Given the description of an element on the screen output the (x, y) to click on. 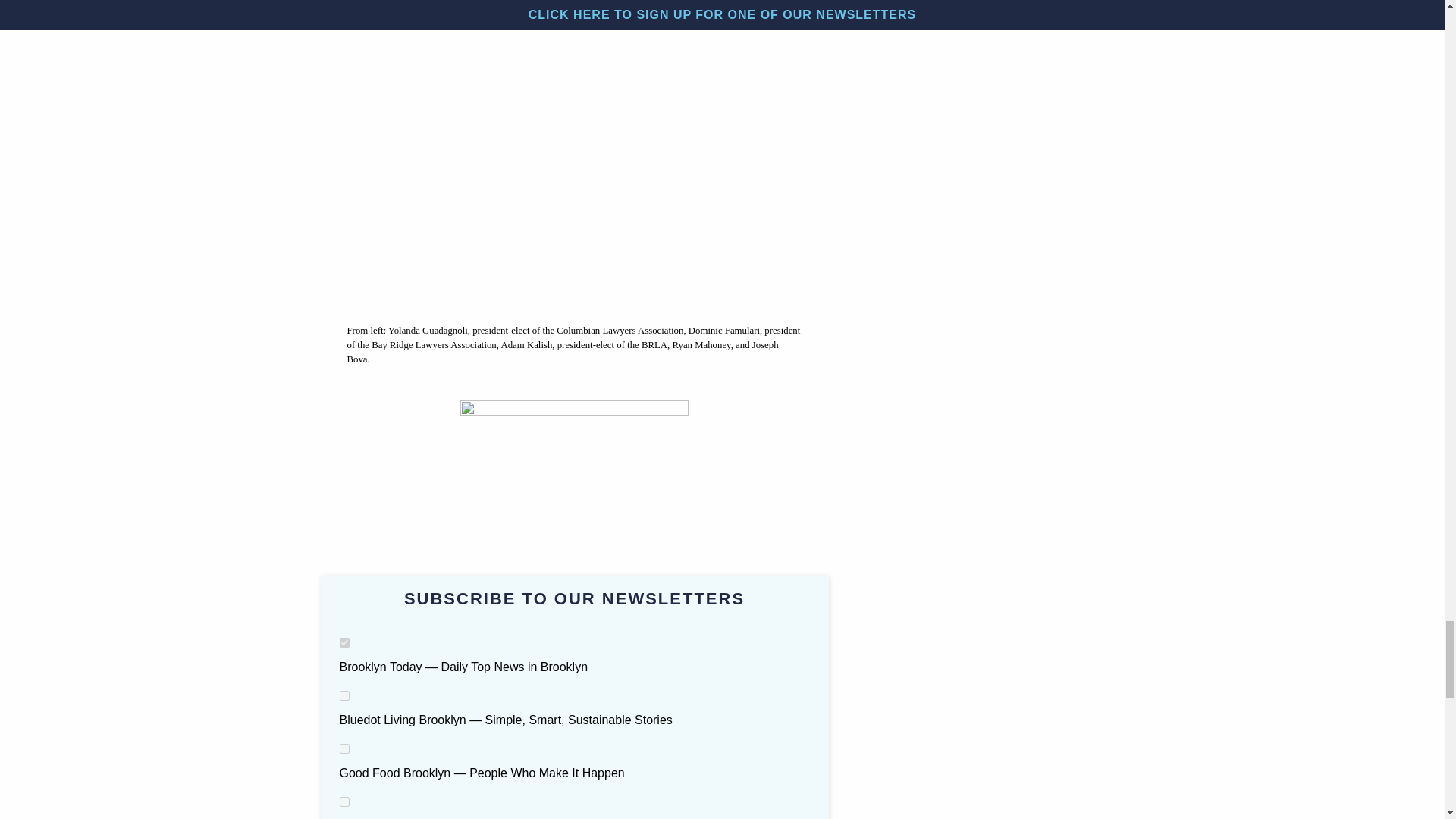
Bluedot Living Brooklyn: Simple, Smart, Sustainable Stories (344, 696)
SUBSCRIBE TO OUR NEWSLETTERS (574, 598)
Brooklyn Today (344, 642)
Daily Bulletin: Legal News (344, 801)
Good Food Brooklyn (344, 748)
